Given the description of an element on the screen output the (x, y) to click on. 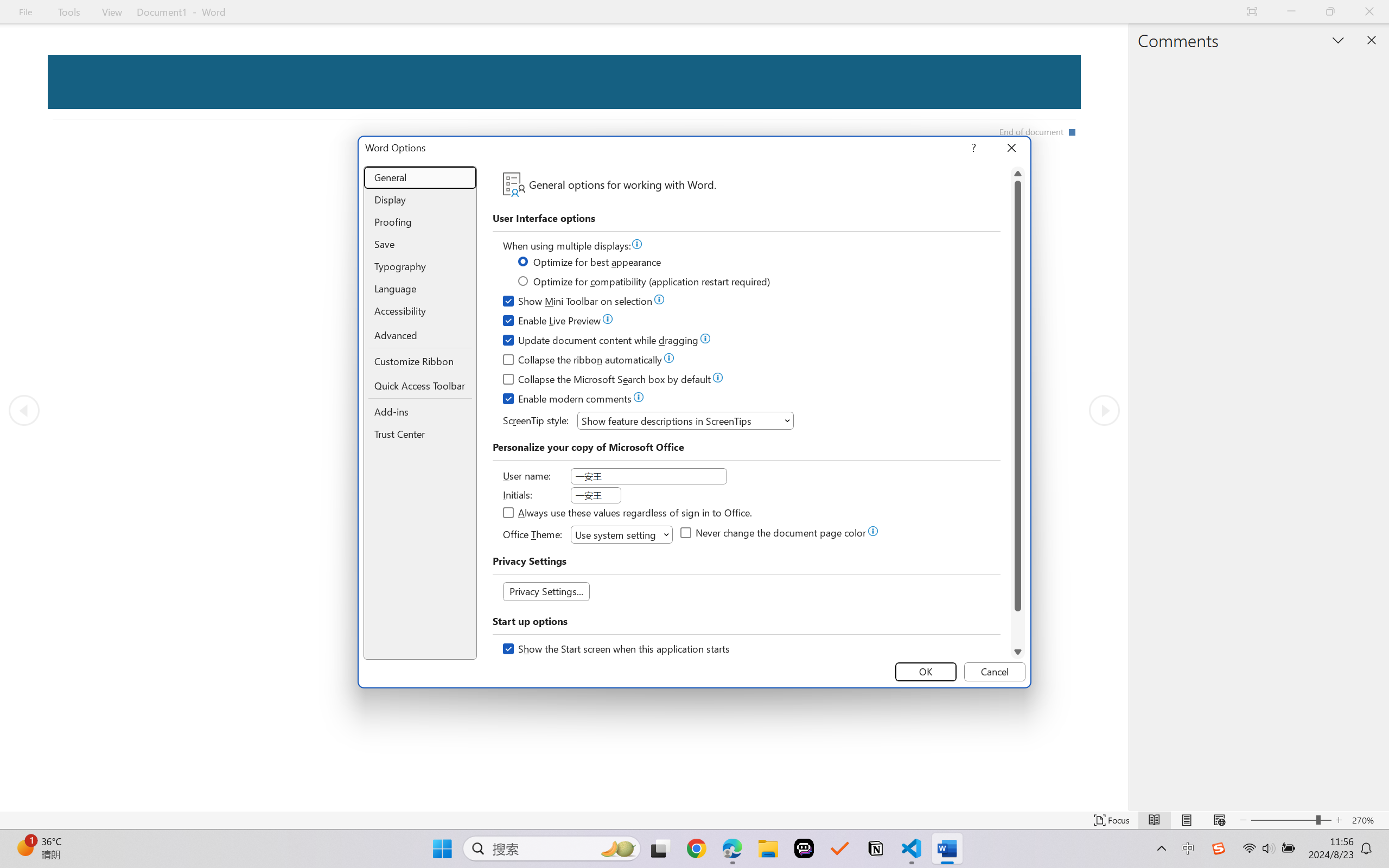
Text Size (1291, 819)
OK (926, 671)
Show Mini Toolbar on selection (578, 302)
Decrease Text Size (1243, 819)
Typography (419, 266)
Enable modern comments (567, 400)
Show the Start screen when this application starts (617, 650)
